Given the description of an element on the screen output the (x, y) to click on. 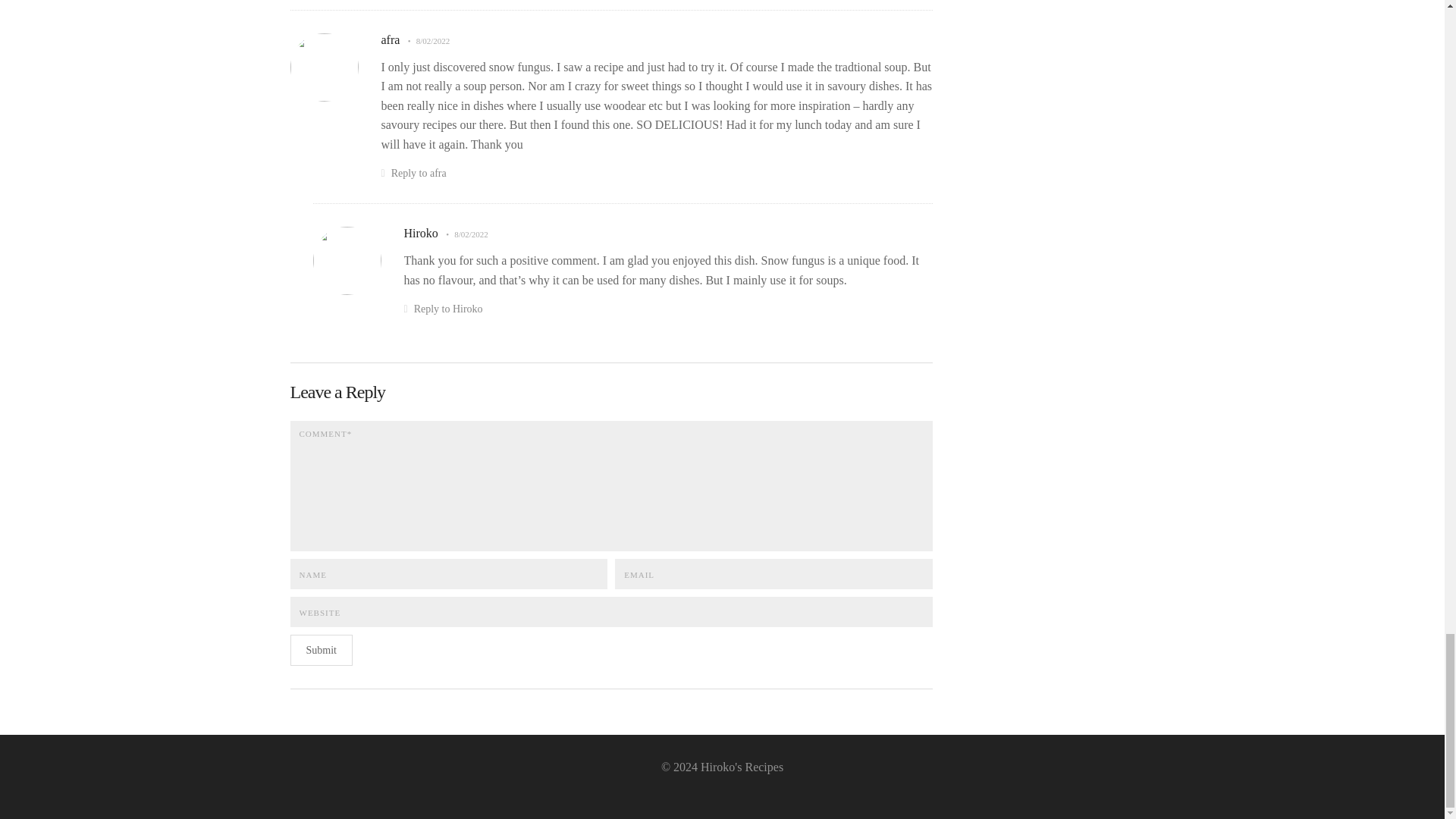
afra (389, 39)
